Given the description of an element on the screen output the (x, y) to click on. 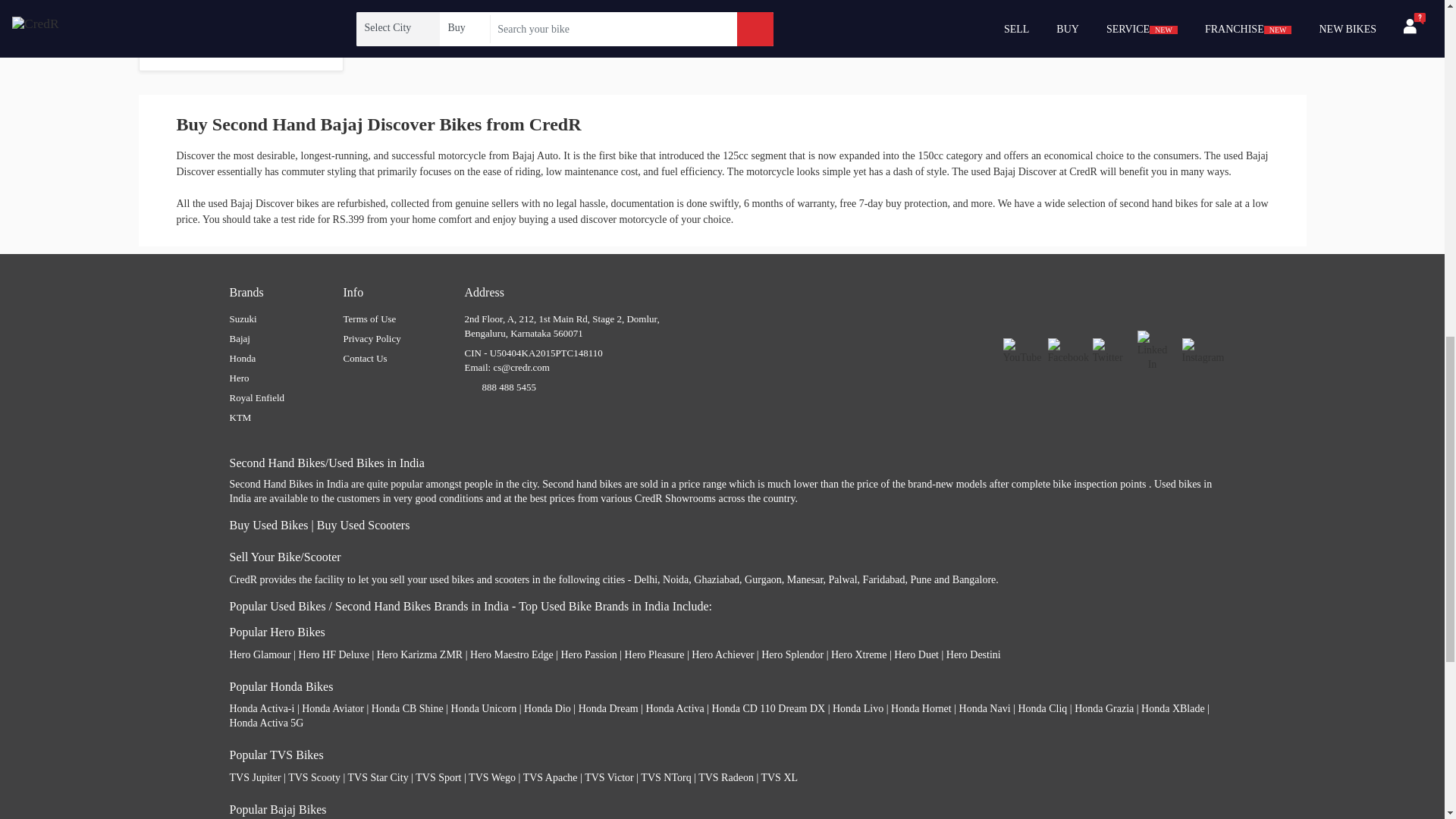
Hero Glamour (258, 654)
Hero HF Deluxe (333, 654)
Royal Enfield (255, 397)
888 488 5455 (509, 387)
Bajaj (238, 337)
Suzuki (242, 318)
Hero Pleasure (654, 654)
Terms of Use (369, 318)
Hero Xtreme (858, 654)
Privacy Policy (371, 337)
Honda (242, 357)
Hero Splendor (792, 654)
Popular Hero Bikes (276, 631)
Hero Passion (587, 654)
Hero Achiever (722, 654)
